Given the description of an element on the screen output the (x, y) to click on. 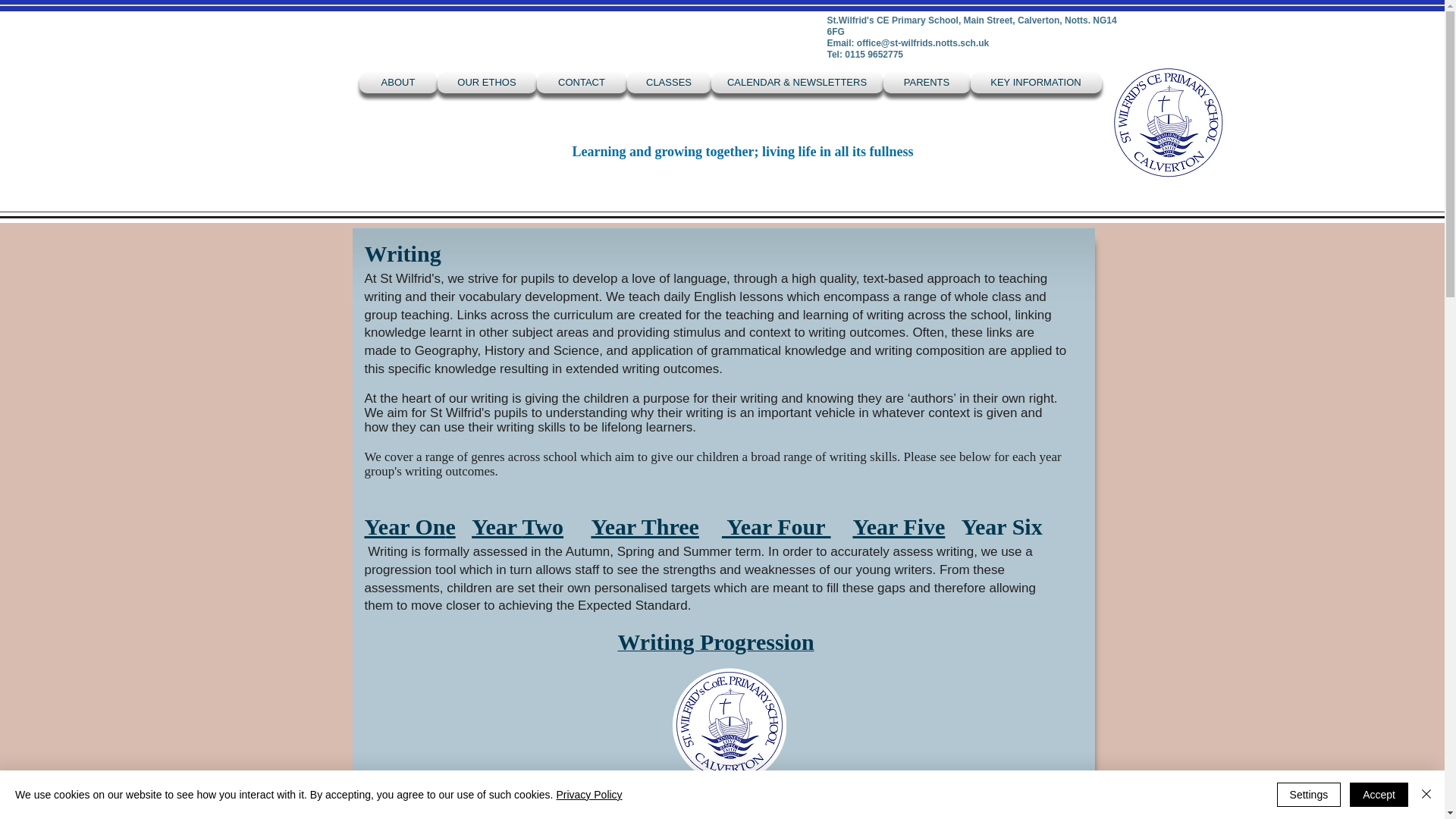
OUR ETHOS (485, 82)
CONTACT (582, 82)
Two (542, 526)
 Year Four  (776, 526)
PARENTS (925, 82)
Year Five (897, 526)
Year (496, 526)
CLASSES (668, 82)
KEY INFORMATION (1036, 82)
Writing Progression (715, 645)
